Given the description of an element on the screen output the (x, y) to click on. 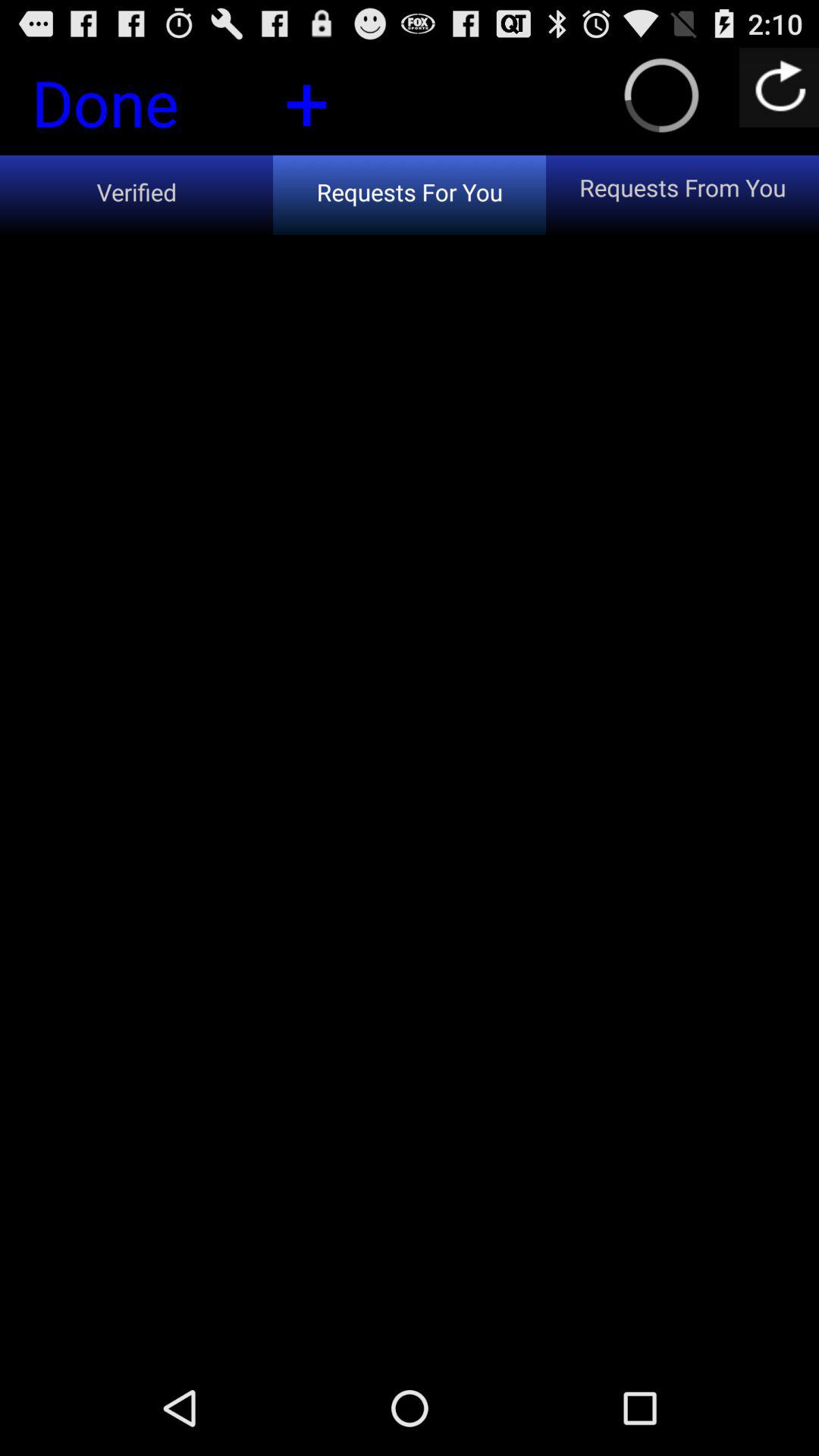
click the icon above the verified icon (306, 100)
